Given the description of an element on the screen output the (x, y) to click on. 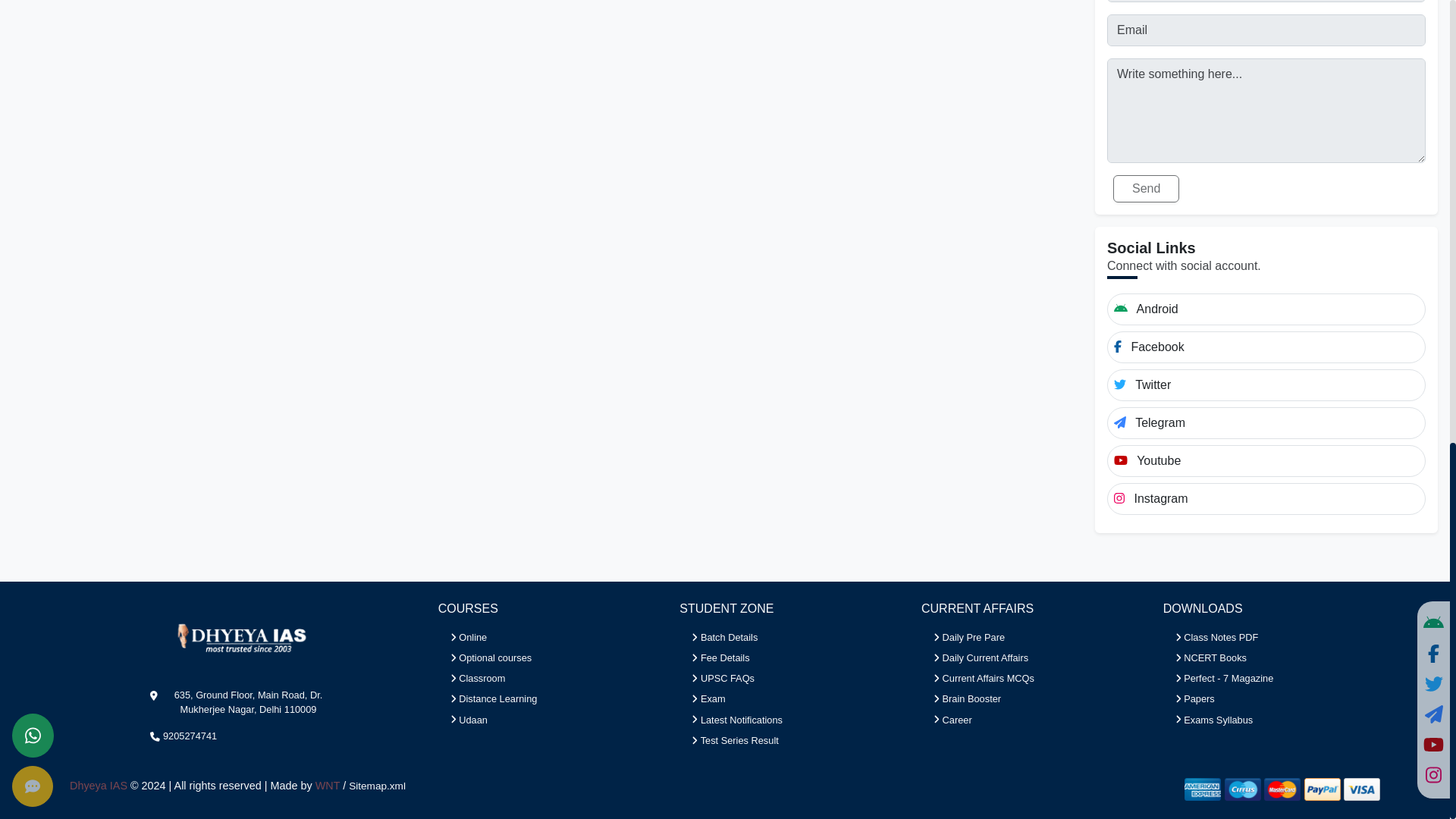
Telegram (1265, 410)
Facebook (1265, 335)
Instagram (1265, 486)
Twitter (1265, 373)
Youtube (1265, 449)
Android (1265, 296)
